Given the description of an element on the screen output the (x, y) to click on. 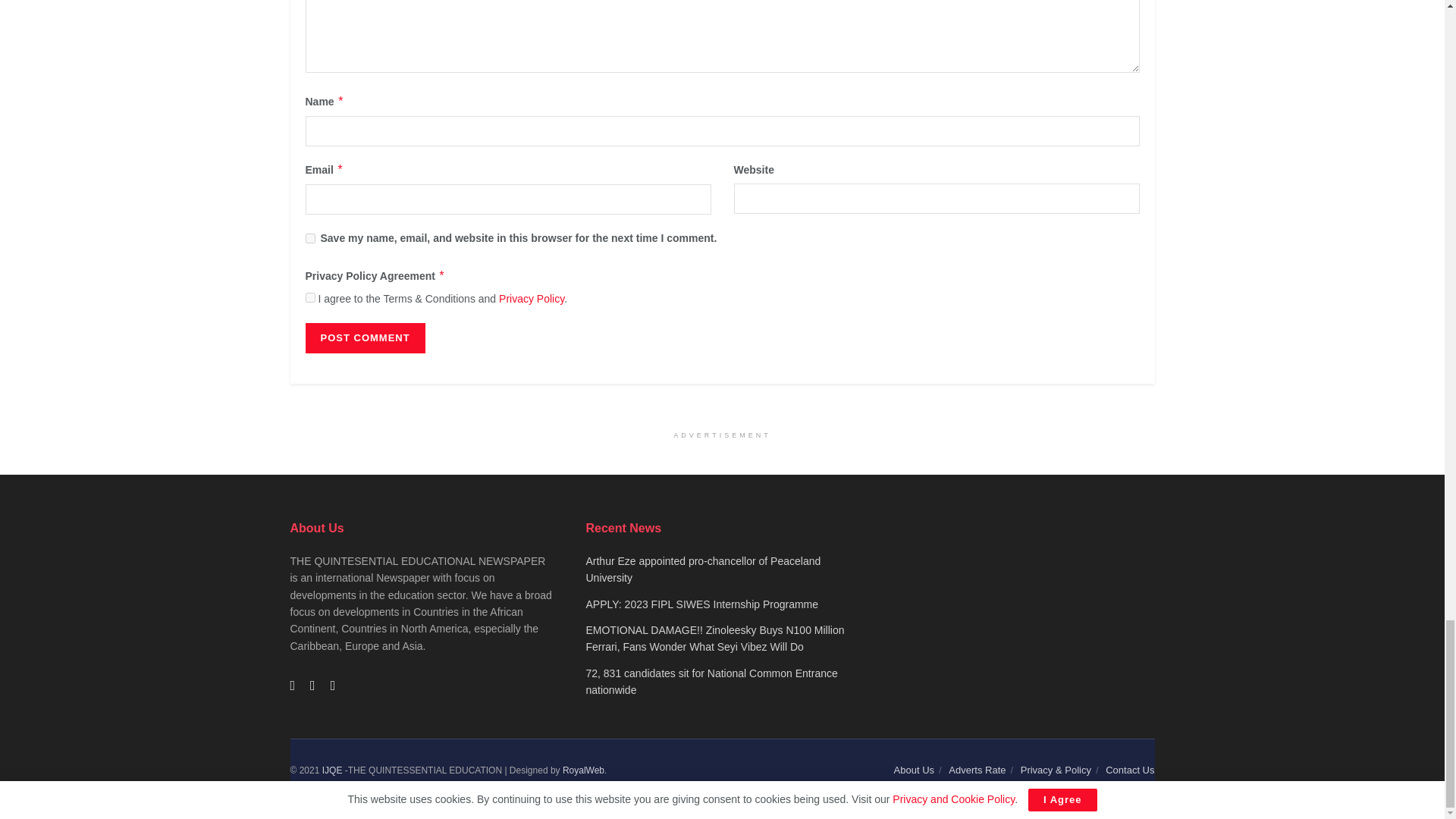
on (309, 297)
yes (309, 238)
RoyalWeb (583, 769)
THE QUINTESSENTIAL EDUCATION (331, 769)
Post Comment (364, 337)
